Given the description of an element on the screen output the (x, y) to click on. 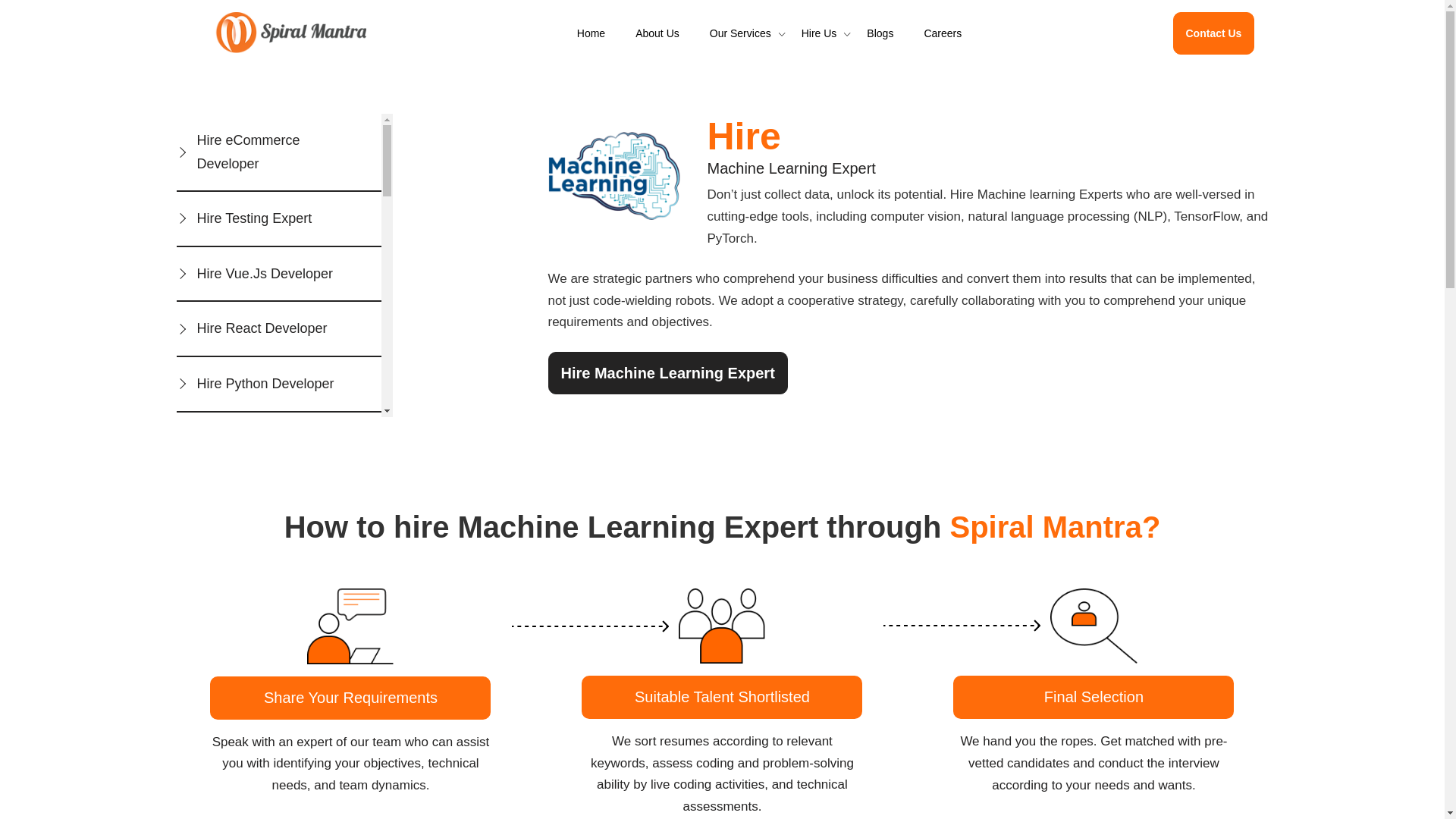
Contact Us (1212, 33)
Hire Us (819, 33)
Home (590, 33)
Blogs (879, 33)
Our Services (740, 33)
Hire Machine learning Experts (1037, 194)
Careers (941, 33)
About Us (656, 33)
